Given the description of an element on the screen output the (x, y) to click on. 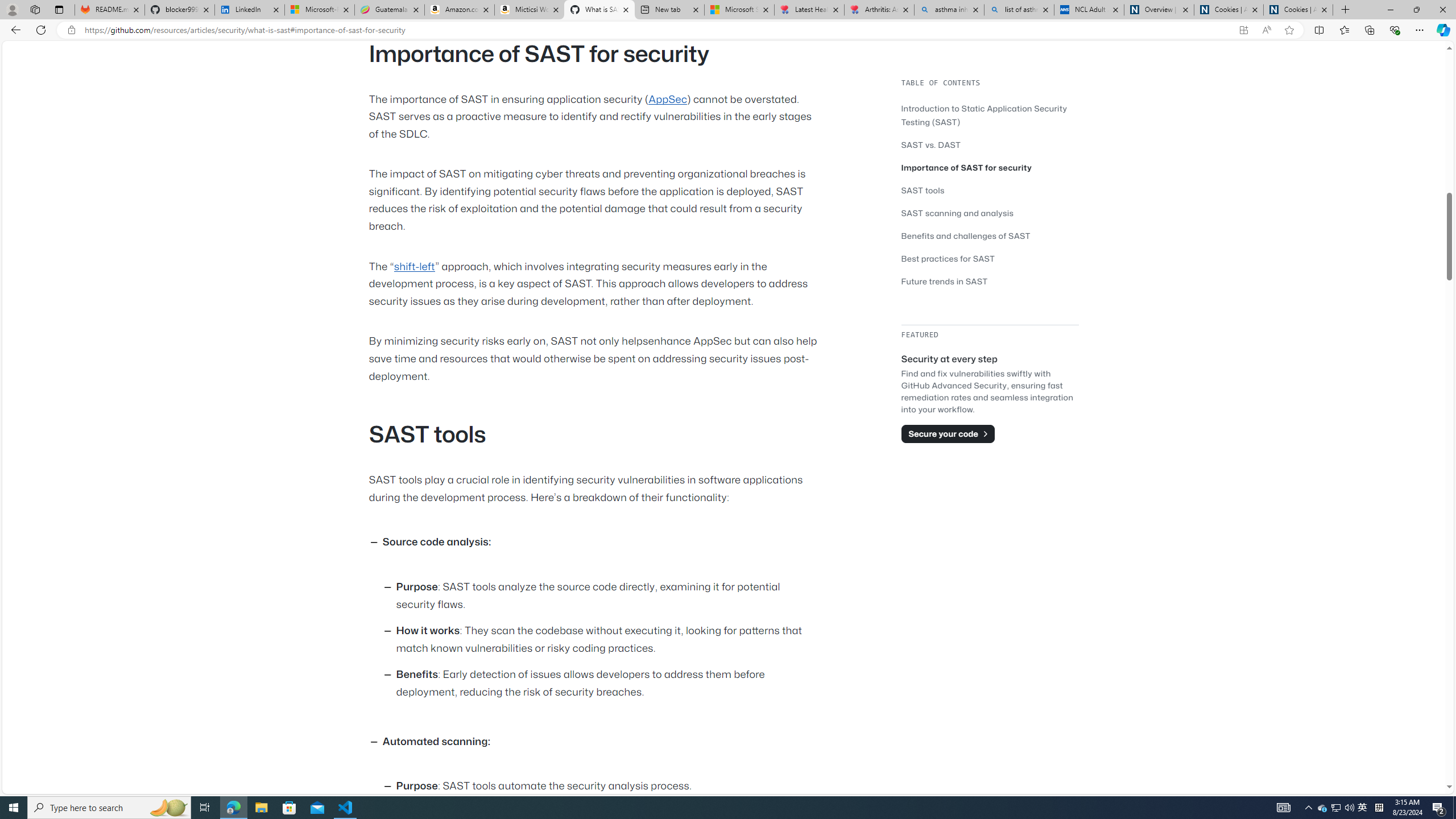
SAST vs. DAST (930, 144)
